Given the description of an element on the screen output the (x, y) to click on. 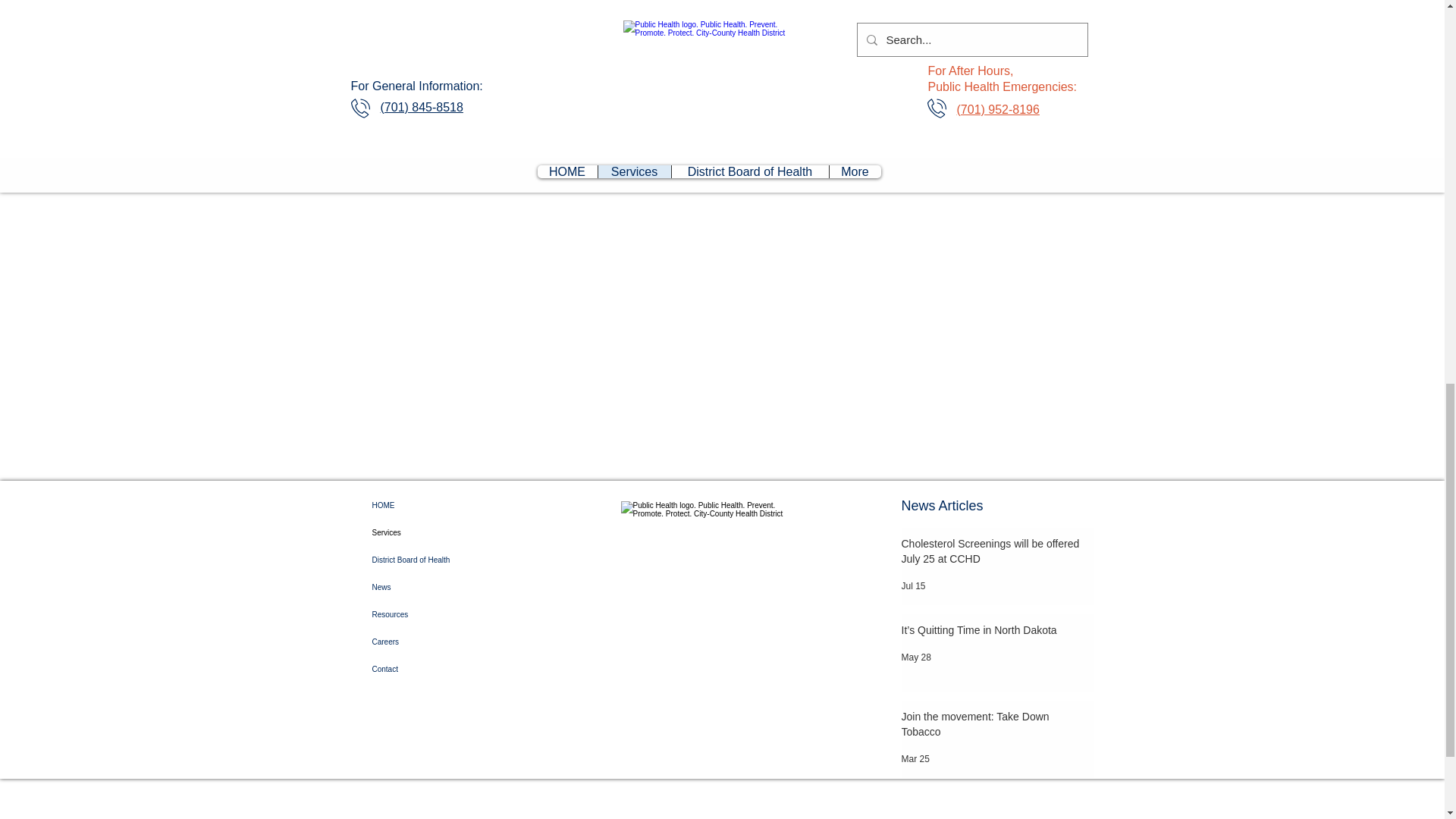
Services (432, 533)
May 28 (915, 656)
Jul 15 (912, 585)
Mar 25 (914, 758)
HOME (432, 505)
